Given the description of an element on the screen output the (x, y) to click on. 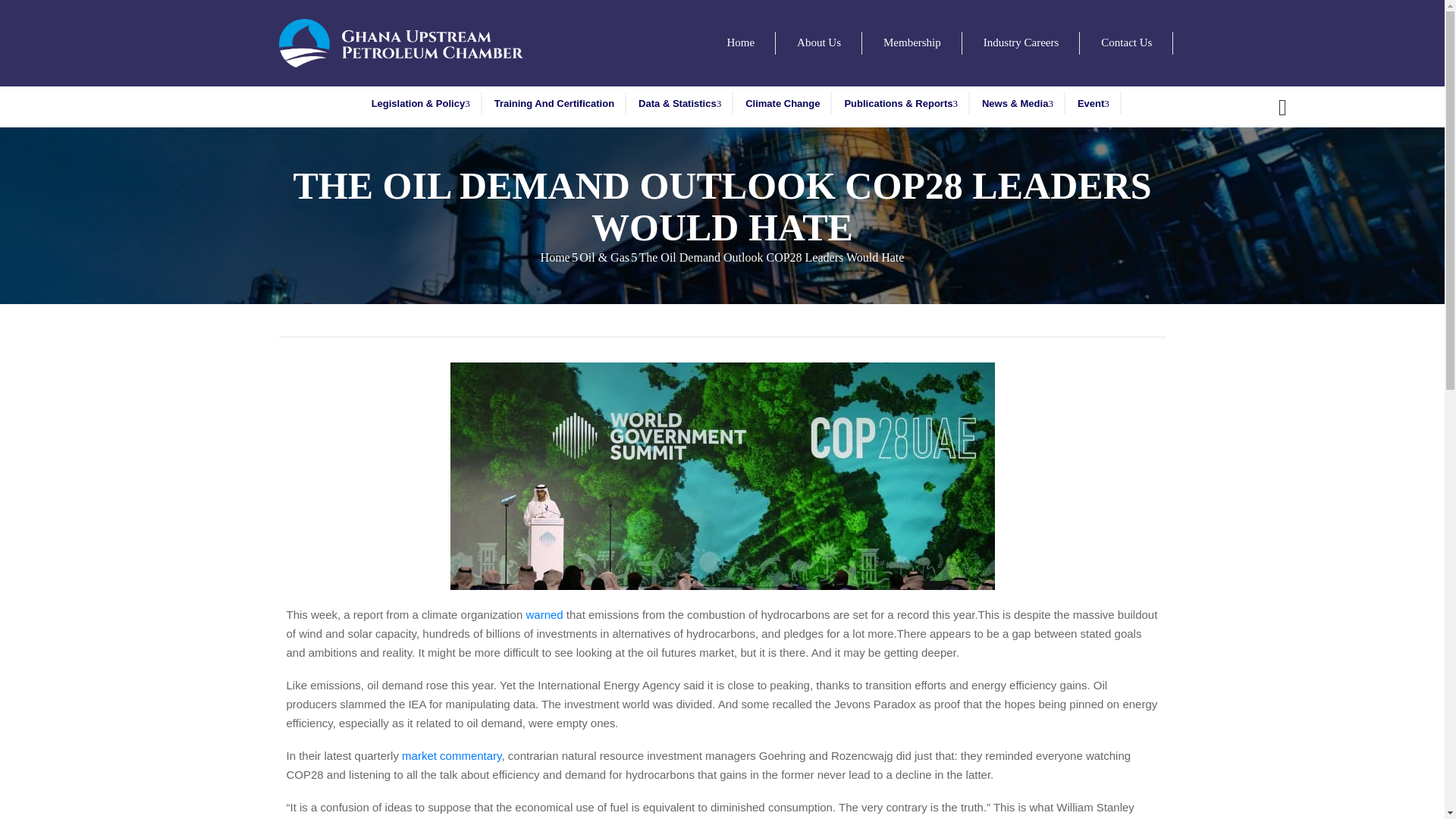
Contact Us (1125, 42)
About Us (818, 42)
Membership (911, 42)
Climate Change (782, 103)
Search (1038, 409)
Membership (911, 42)
Training And Certification (553, 103)
Industry Careers (1021, 42)
Contact Us (1125, 42)
Industry Careers (1021, 42)
